Given the description of an element on the screen output the (x, y) to click on. 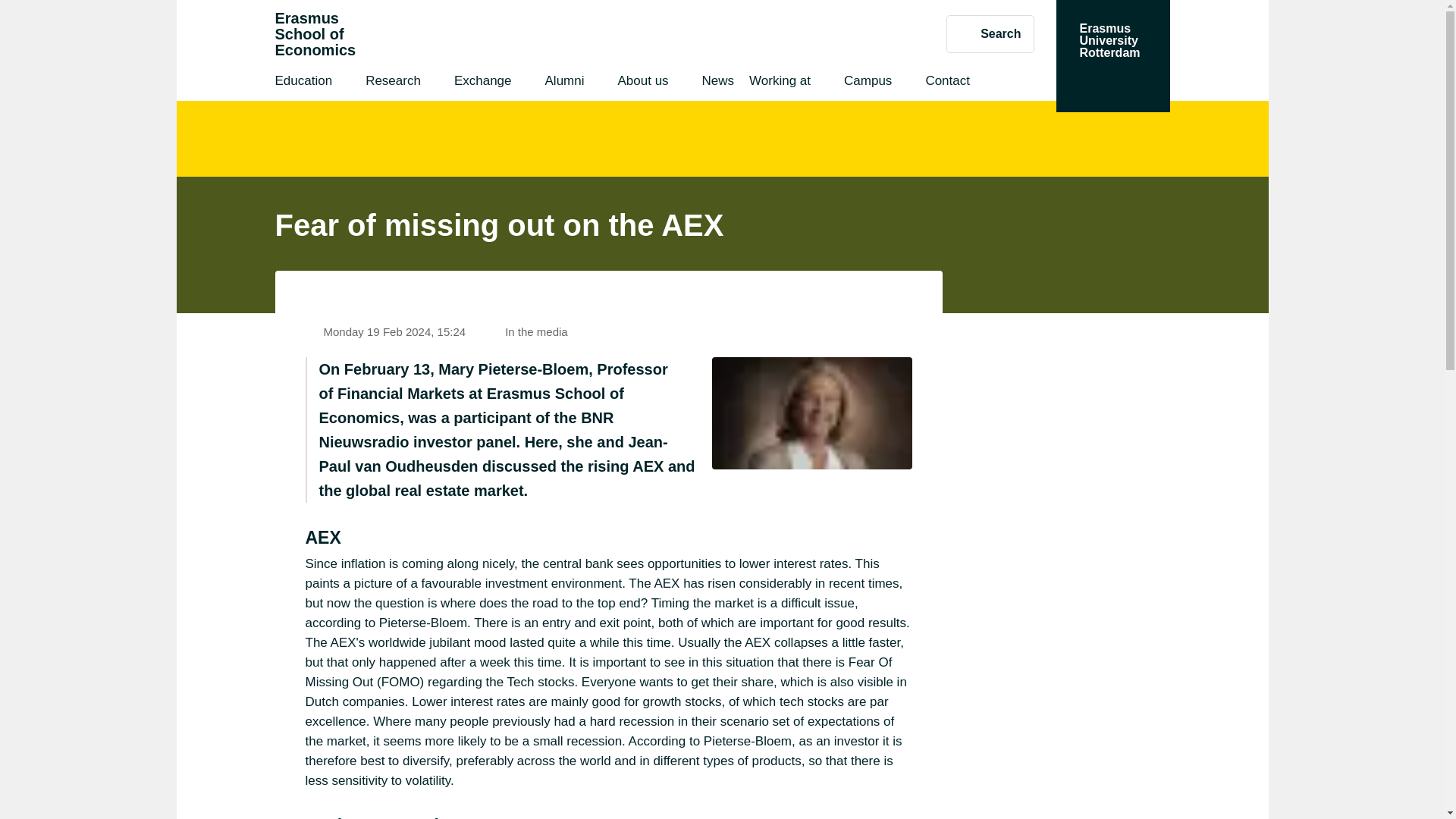
Alumni (564, 82)
Working at (779, 82)
Campus (868, 82)
Education (302, 82)
Exchange (483, 82)
News (718, 82)
Contact (946, 82)
Search (315, 34)
